Given the description of an element on the screen output the (x, y) to click on. 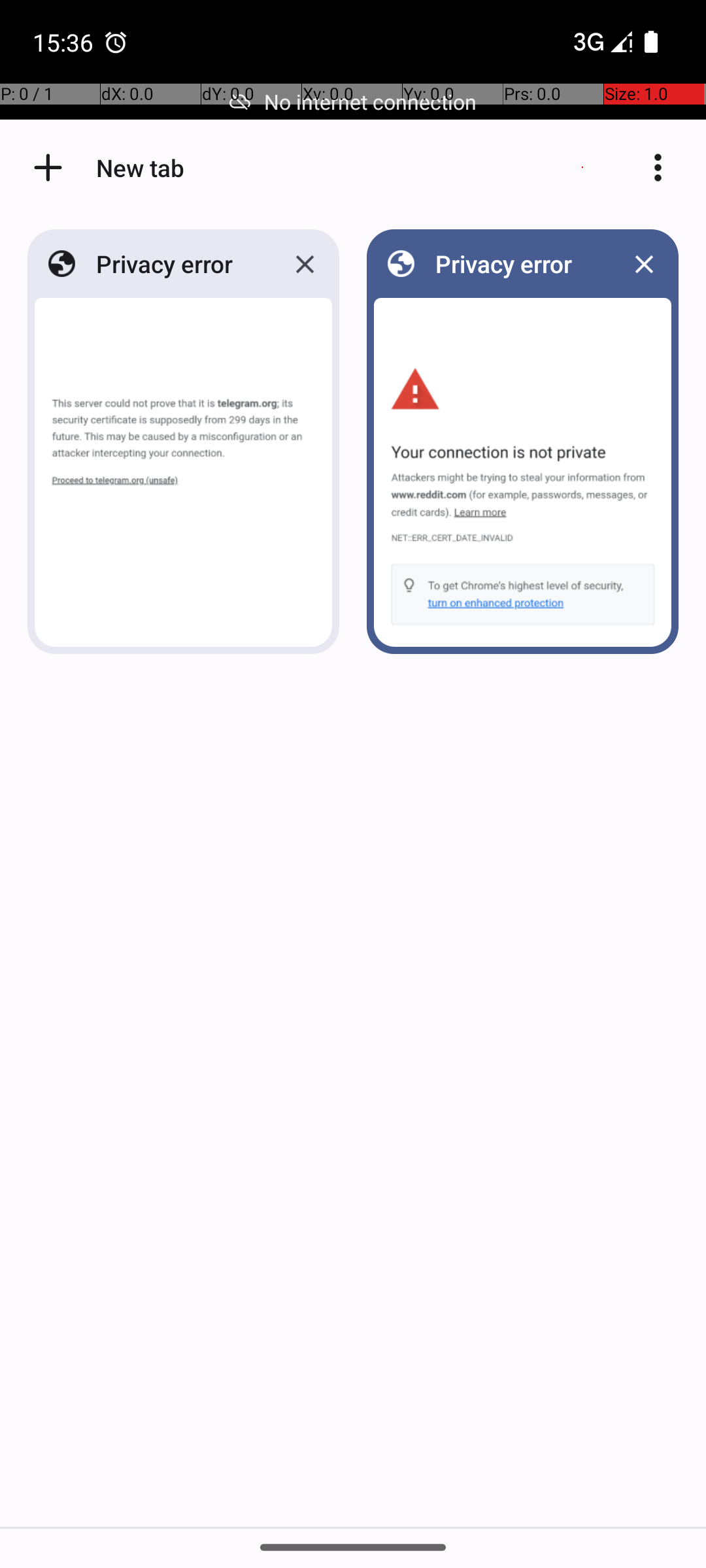
Close Privacy error tab Element type: android.widget.ImageView (304, 263)
